Given the description of an element on the screen output the (x, y) to click on. 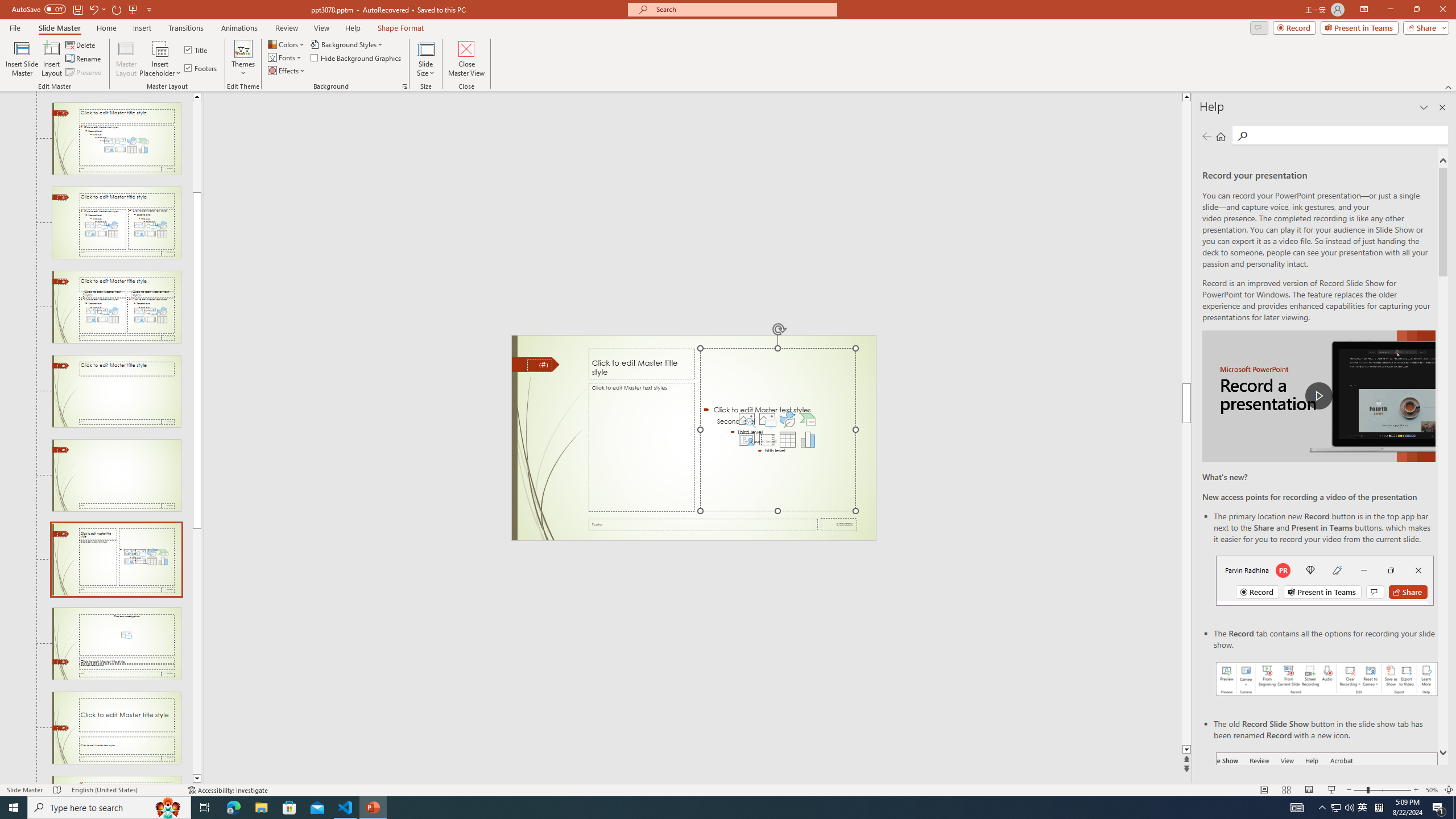
Insert Video (767, 439)
play Record a Presentation (1318, 395)
Pictures (767, 419)
Insert Cameo (746, 439)
Fonts (285, 56)
Insert Chart (807, 439)
Footer (703, 524)
Colors (287, 44)
